Given the description of an element on the screen output the (x, y) to click on. 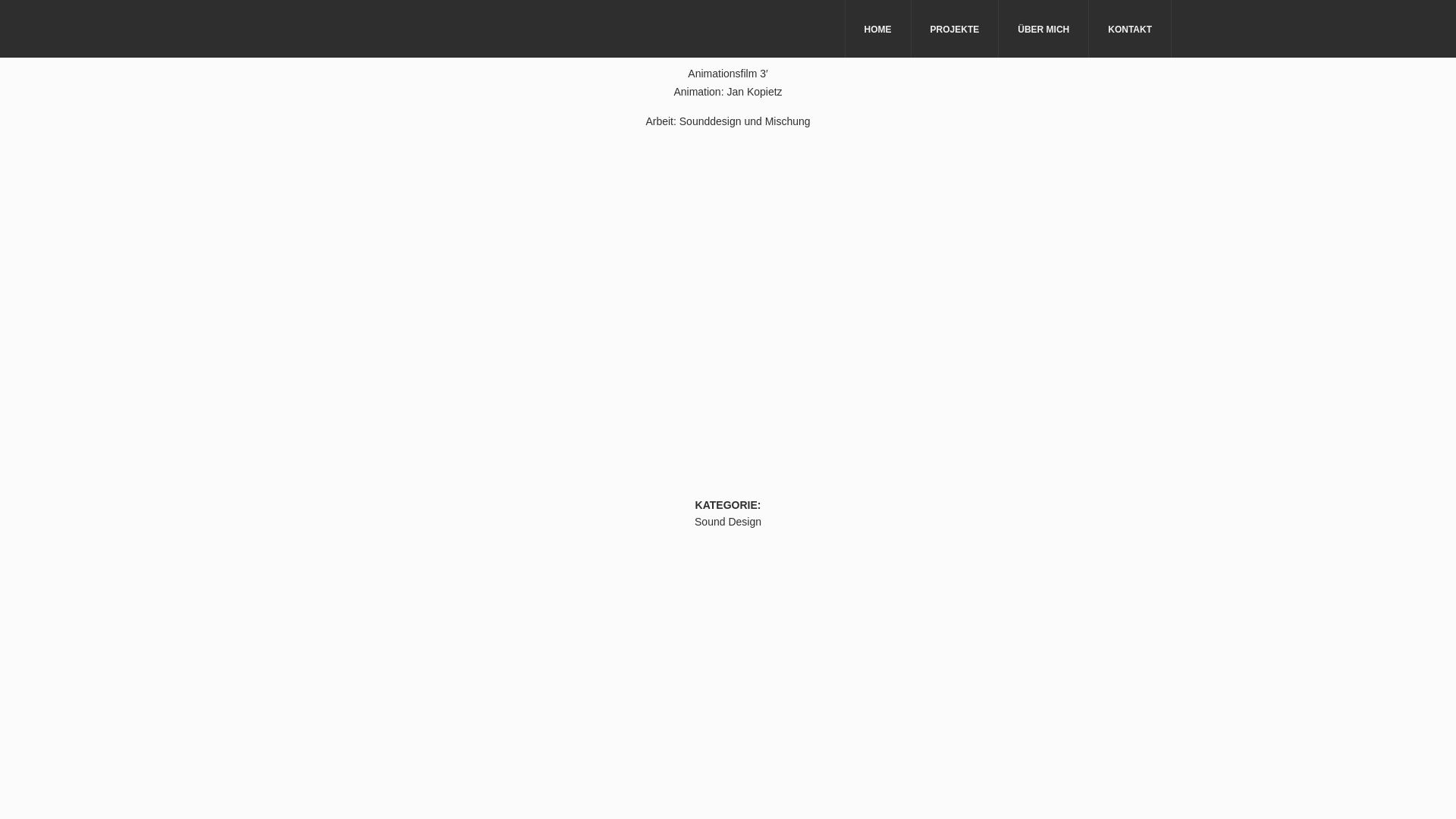
KONTAKT Element type: text (1129, 28)
HOME Element type: text (877, 28)
PROJEKTE Element type: text (954, 28)
